Given the description of an element on the screen output the (x, y) to click on. 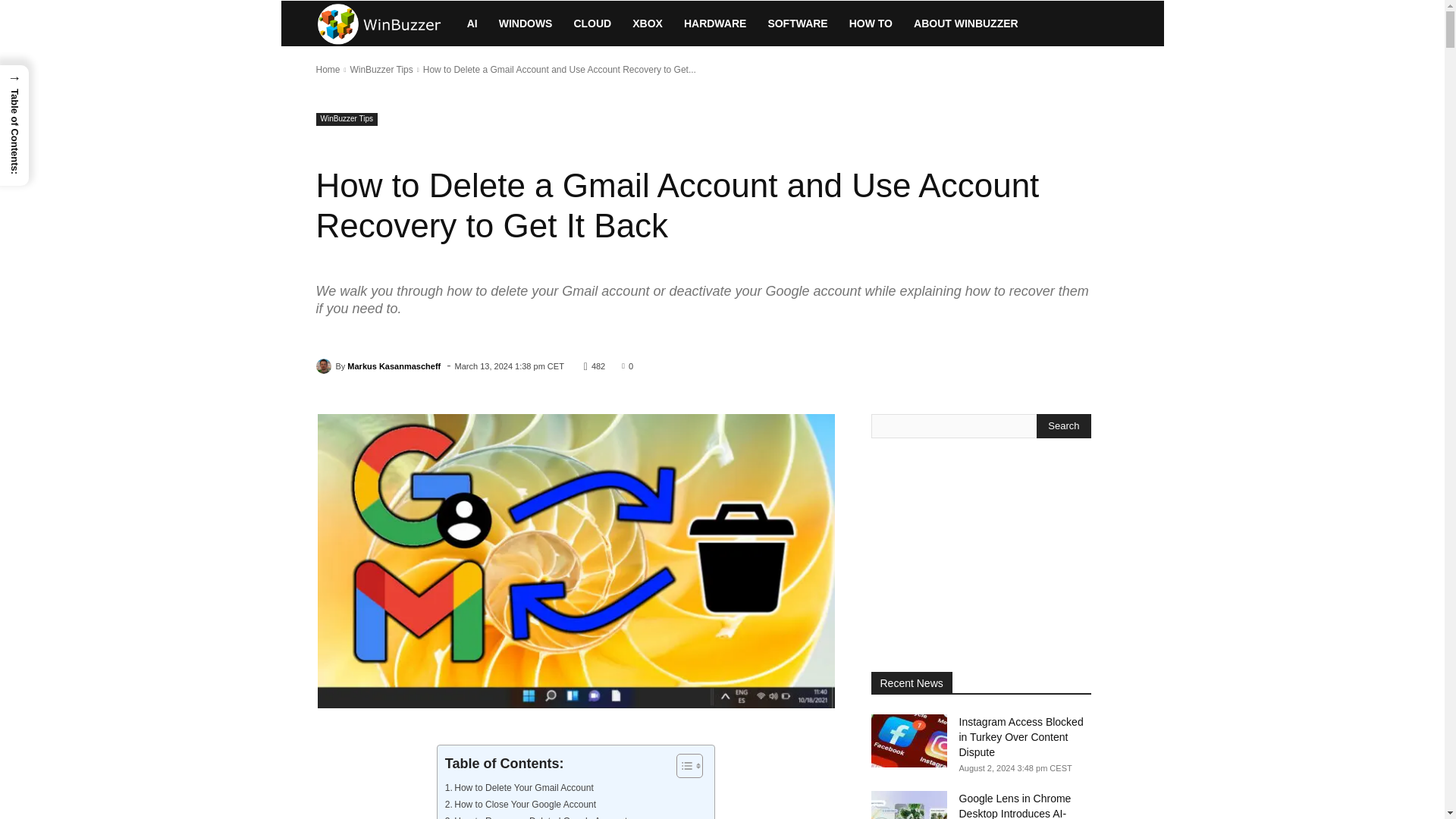
View all posts in WinBuzzer Tips (380, 69)
How to Close Your Google Account (520, 803)
Markus Kasanmascheff (324, 365)
Search (1063, 426)
How to Delete Your Gmail Account (519, 786)
How to Recover a Deleted Google Account (536, 815)
